Given the description of an element on the screen output the (x, y) to click on. 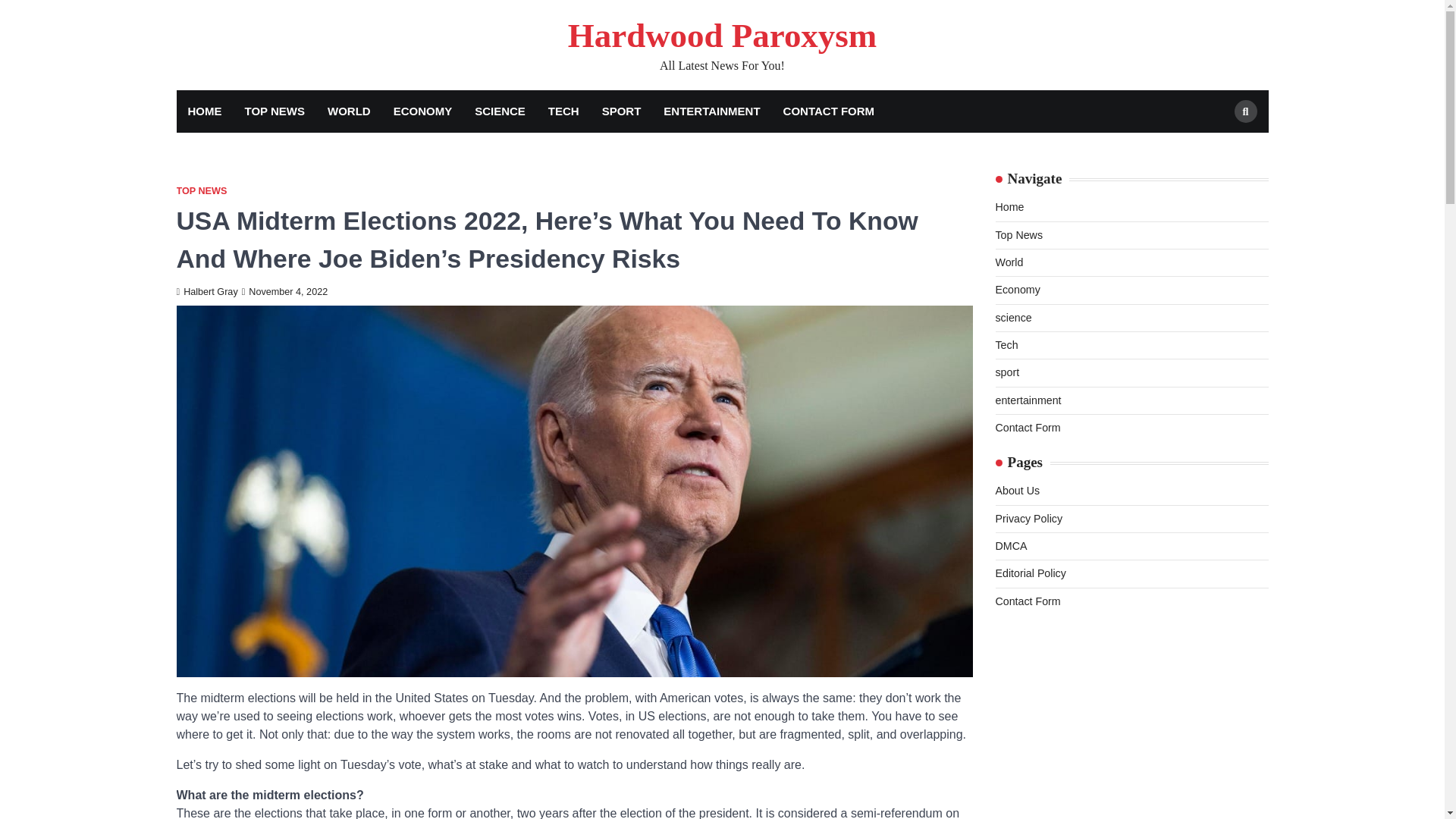
CONTACT FORM (828, 111)
Hardwood Paroxysm (722, 35)
November 4, 2022 (285, 291)
World (1008, 262)
Contact Form (1026, 427)
Home (1008, 206)
TOP NEWS (273, 111)
sport (1006, 372)
TOP NEWS (201, 191)
SCIENCE (500, 111)
